Given the description of an element on the screen output the (x, y) to click on. 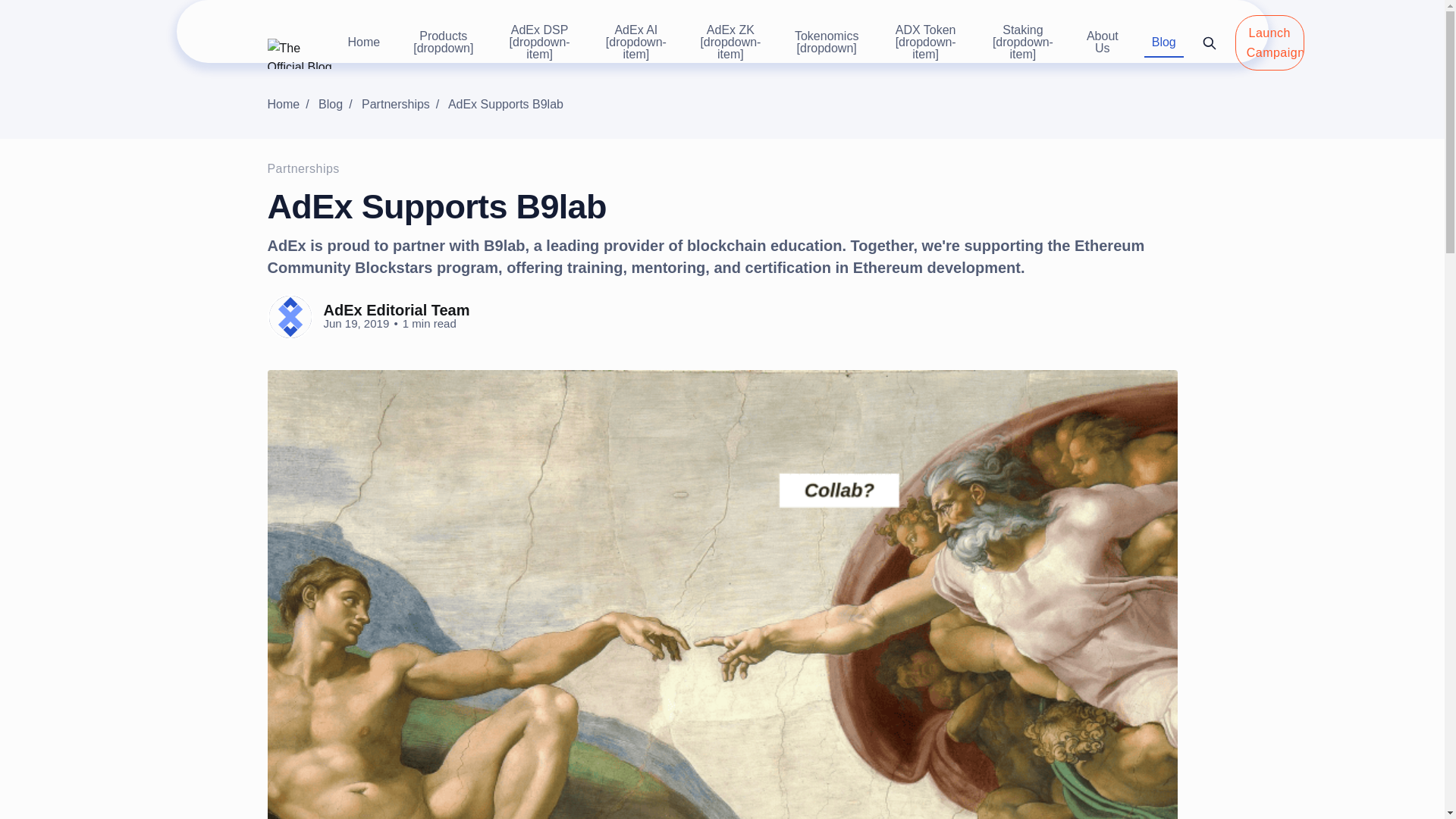
About Us (1101, 42)
Blog (338, 103)
Partnerships (403, 103)
self-serve crypto ad platform (290, 103)
Blog (1163, 42)
Launch Campaign (1269, 42)
AdEx Editorial Team (395, 310)
Home (290, 103)
Partnerships (302, 168)
Home (363, 42)
